Given the description of an element on the screen output the (x, y) to click on. 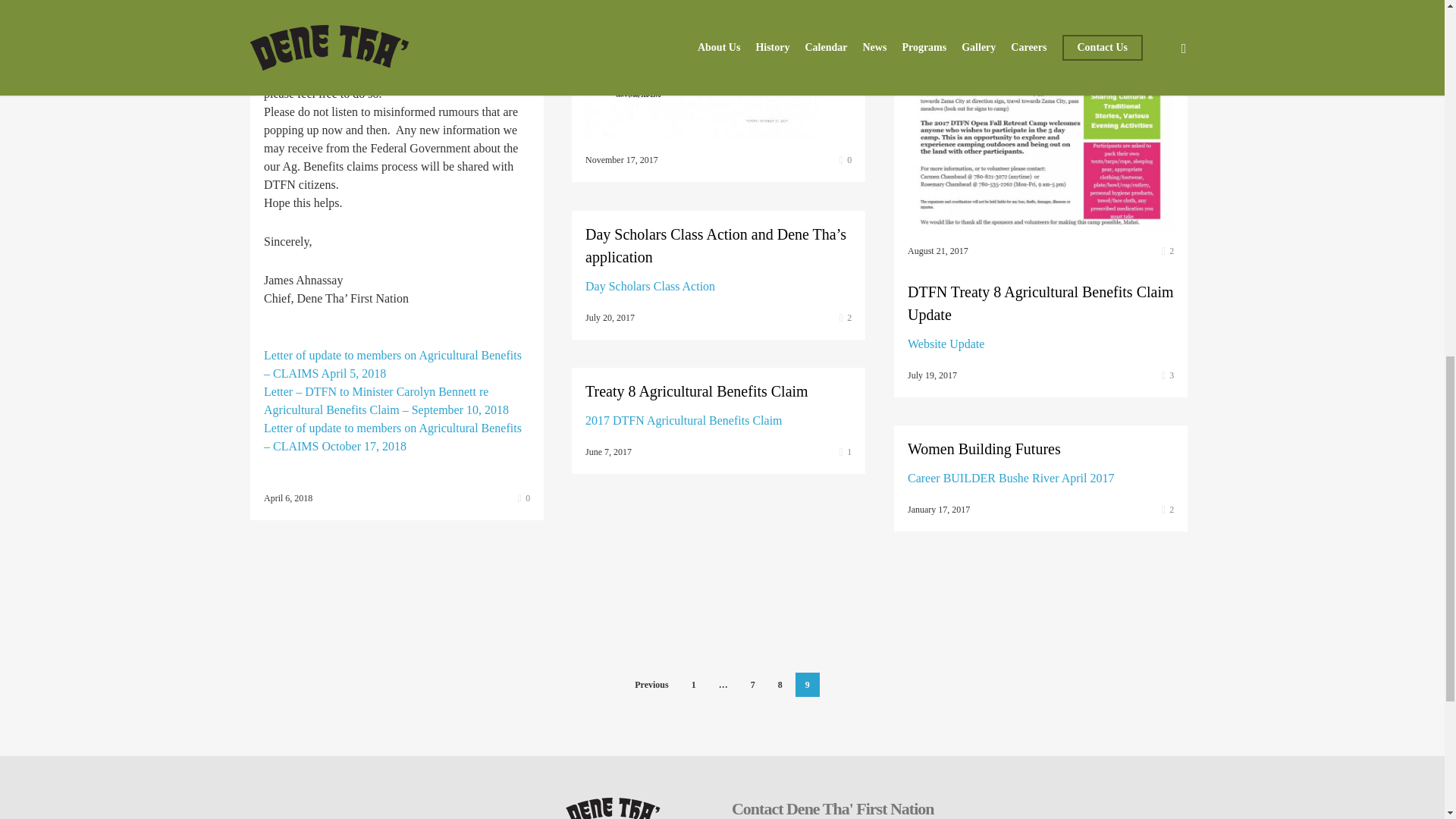
Love this (523, 498)
Love this (1167, 250)
Love this (845, 317)
Love this (845, 159)
0 (523, 498)
